Given the description of an element on the screen output the (x, y) to click on. 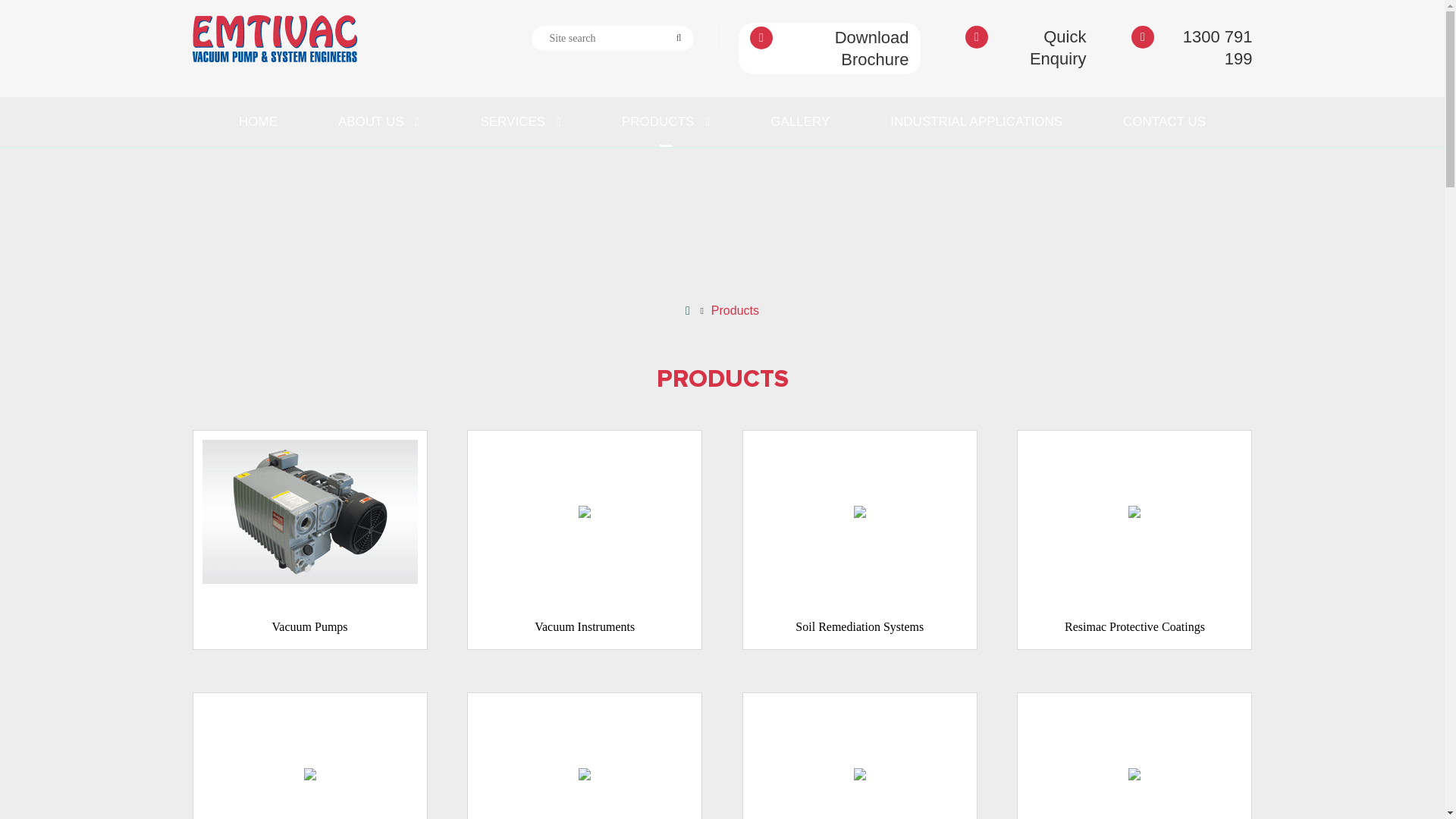
Vacuum Pumps Element type: text (309, 539)
SERVICES Element type: text (520, 122)
Download Brochure Element type: text (829, 48)
Resimac Protective Coatings Element type: text (1134, 539)
CONTACT US Element type: text (1164, 122)
INDUSTRIAL APPLICATIONS Element type: text (975, 122)
ABOUT US Element type: text (378, 122)
1300 791 199 Element type: text (1191, 47)
Soil Remediation Systems Element type: text (859, 539)
PRODUCTS Element type: text (665, 122)
Quick Enquiry Element type: text (1024, 47)
HOME Element type: text (257, 122)
GALLERY Element type: text (799, 122)
Vacuum Instruments Element type: text (584, 539)
